Given the description of an element on the screen output the (x, y) to click on. 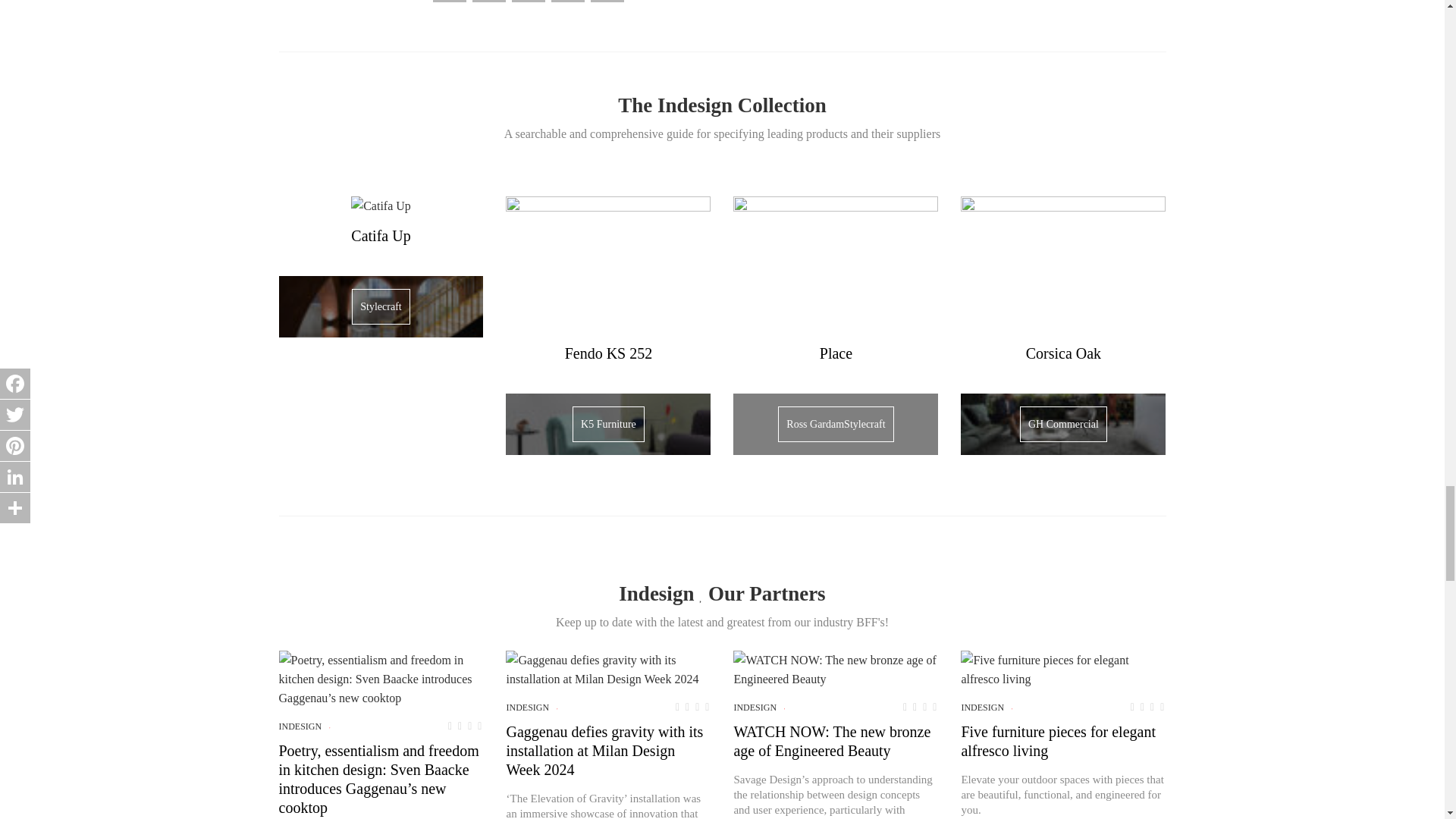
Five furniture pieces for elegant alfresco living (1063, 669)
Twitter (488, 7)
LinkedIn (568, 7)
Pinterest (528, 7)
WATCH NOW: The new bronze age of Engineered Beauty (835, 669)
Facebook (448, 7)
